Given the description of an element on the screen output the (x, y) to click on. 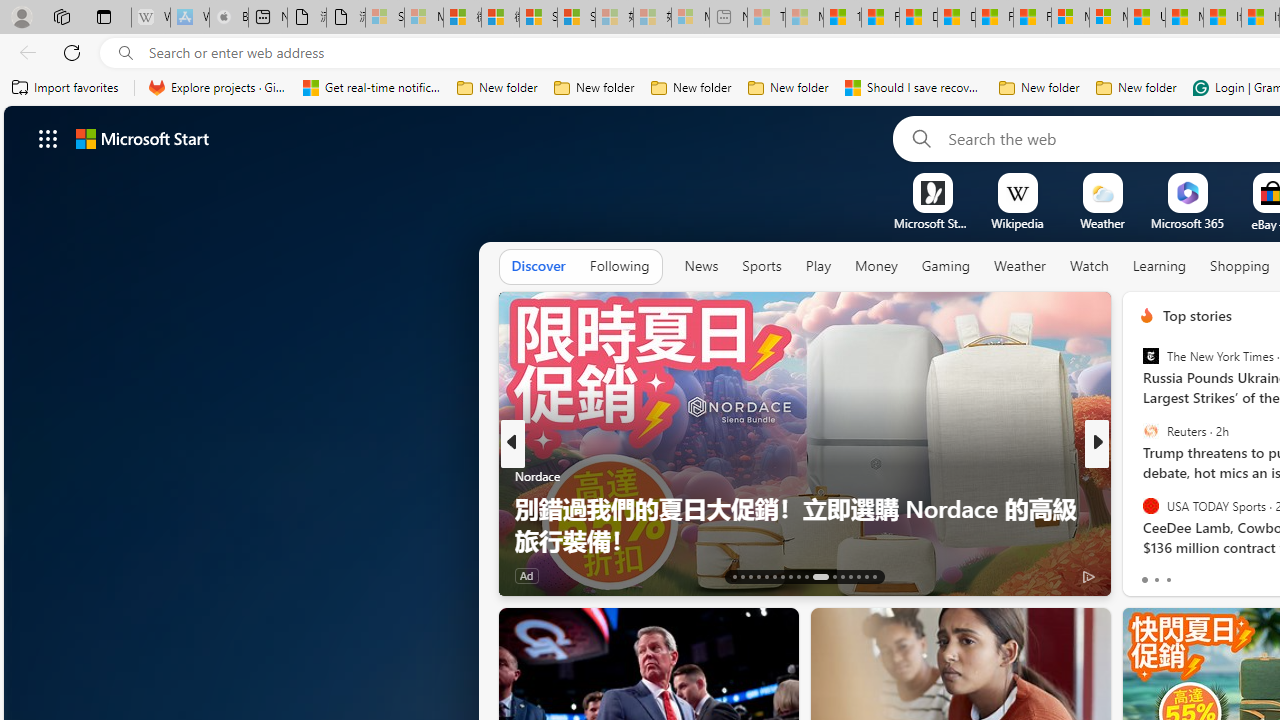
tab-0 (1143, 579)
AutomationID: tab-16 (757, 576)
AutomationID: tab-22 (806, 576)
PsychLove (1138, 507)
Top Stories - MSN - Sleeping (765, 17)
Weather (1019, 267)
Gaming (945, 267)
View comments 460 Comment (1234, 575)
Hide this story (1050, 632)
AutomationID: tab-31 (857, 576)
